Given the description of an element on the screen output the (x, y) to click on. 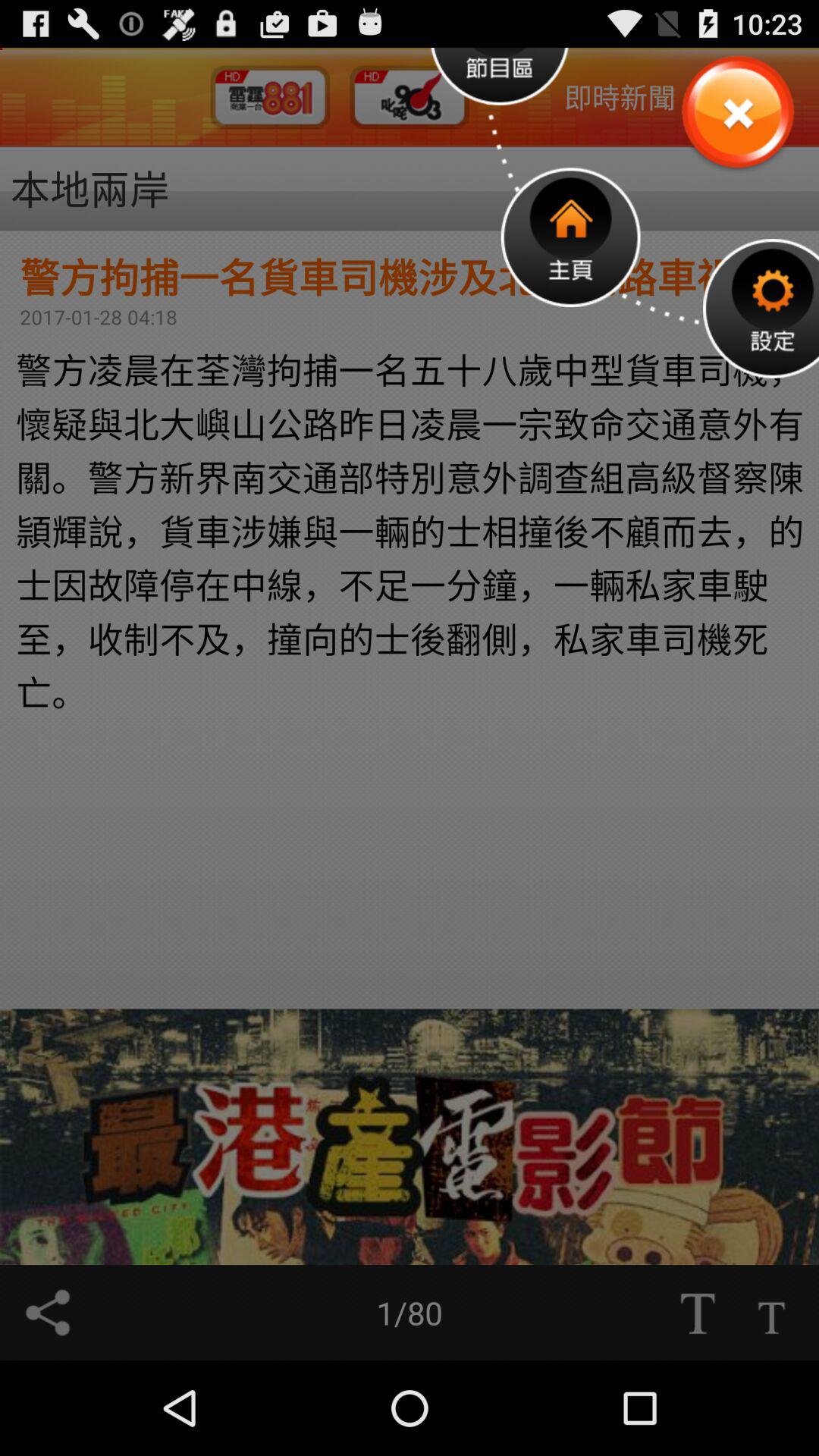
go to settings (760, 308)
